Given the description of an element on the screen output the (x, y) to click on. 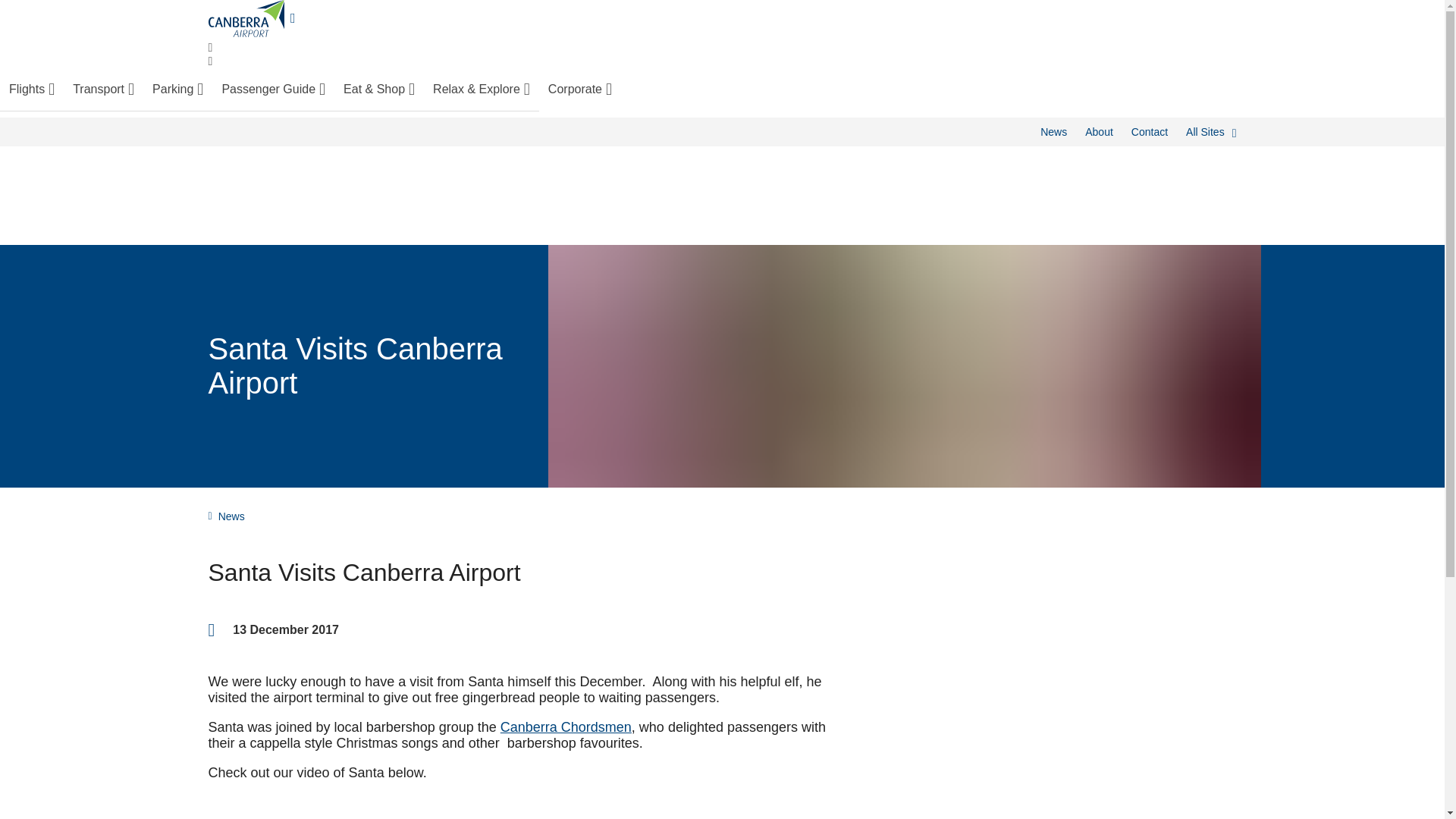
Open search modal (210, 47)
Menu (210, 60)
Passenger Guide (272, 89)
Transport (102, 89)
Parking (177, 89)
Flights (31, 89)
